Given the description of an element on the screen output the (x, y) to click on. 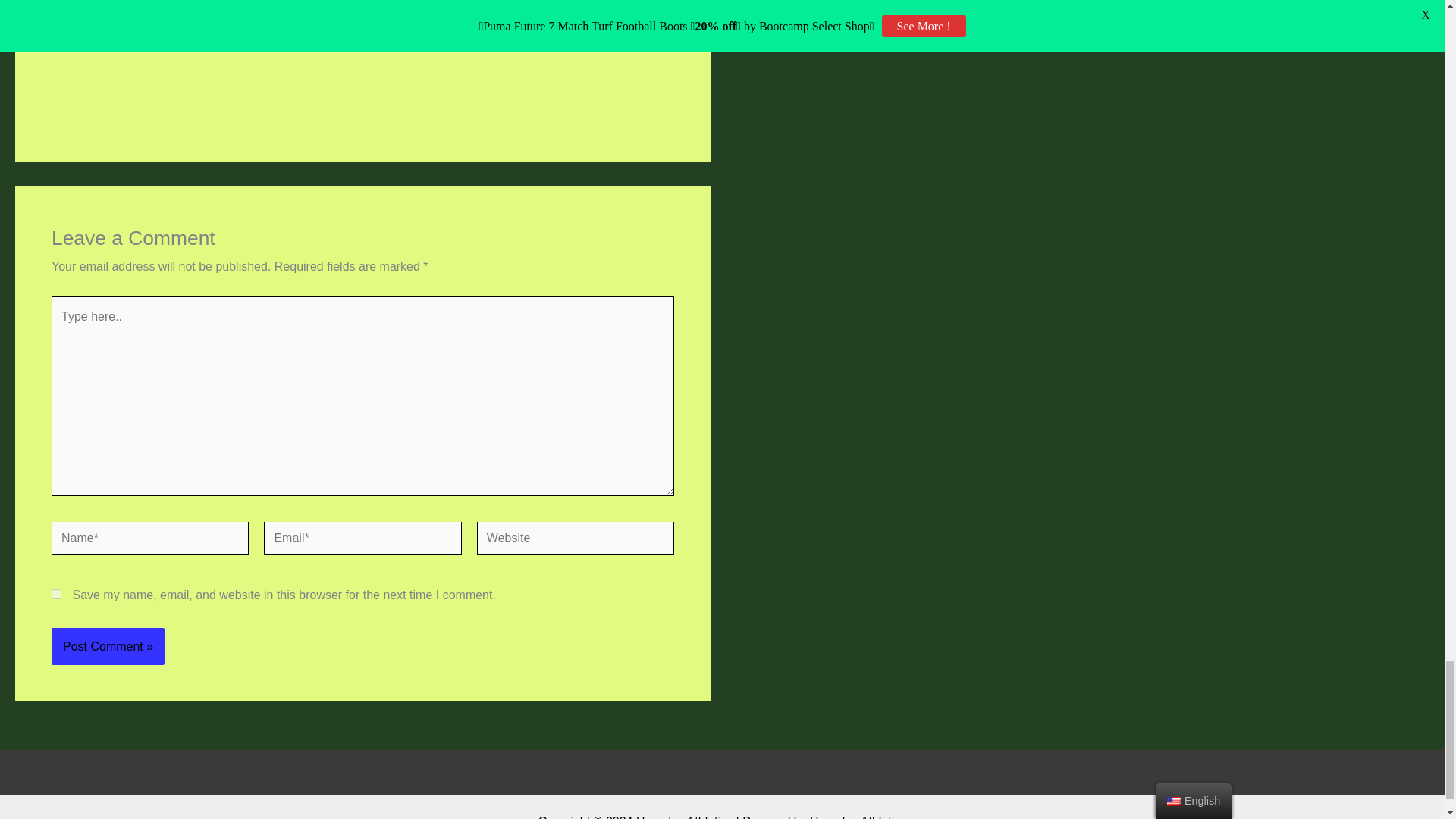
View all posts by Owl (472, 17)
yes (55, 593)
View all posts by Owl (151, 29)
